Given the description of an element on the screen output the (x, y) to click on. 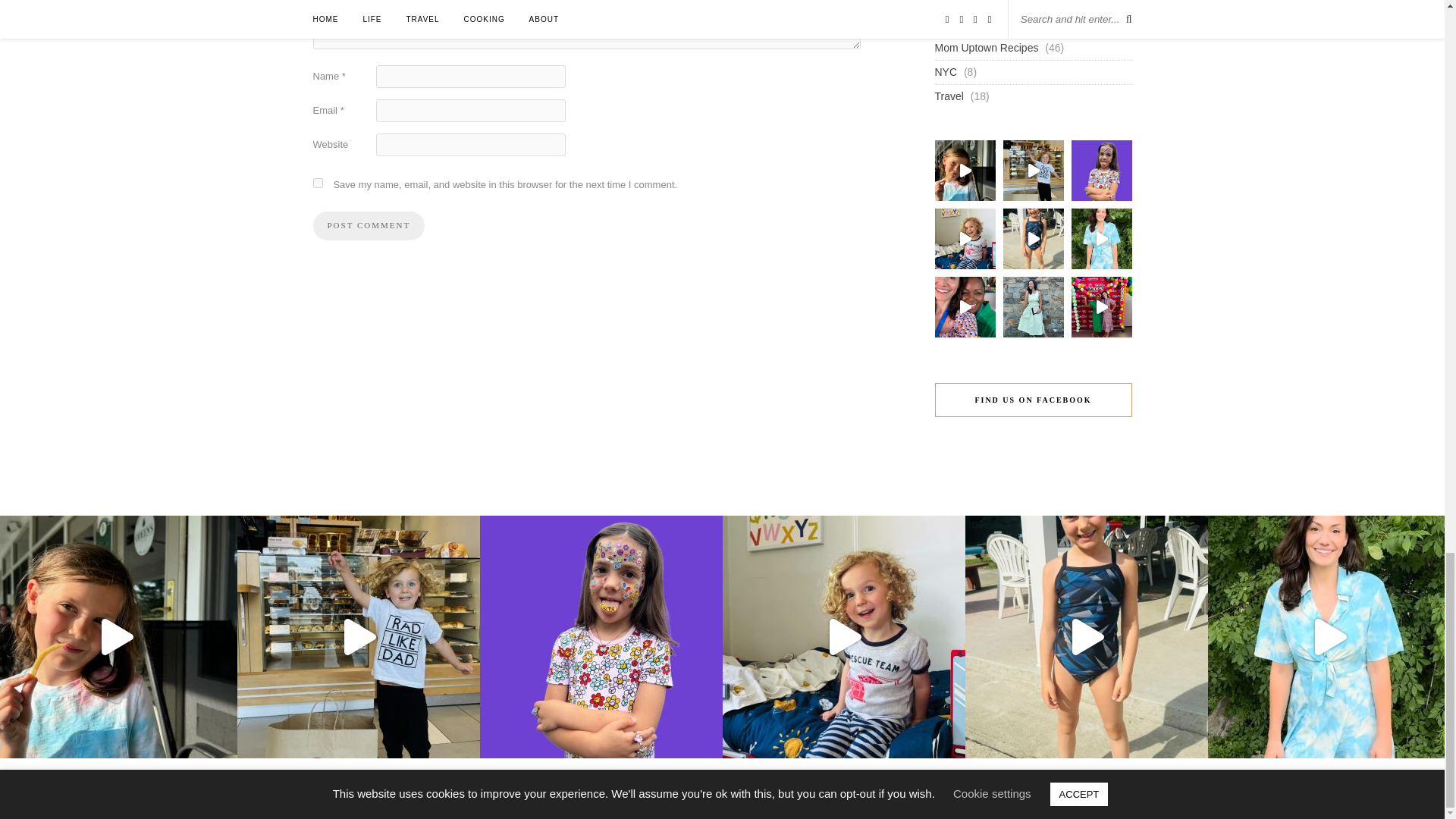
Post Comment (369, 225)
yes (317, 183)
Post Comment (369, 225)
